Given the description of an element on the screen output the (x, y) to click on. 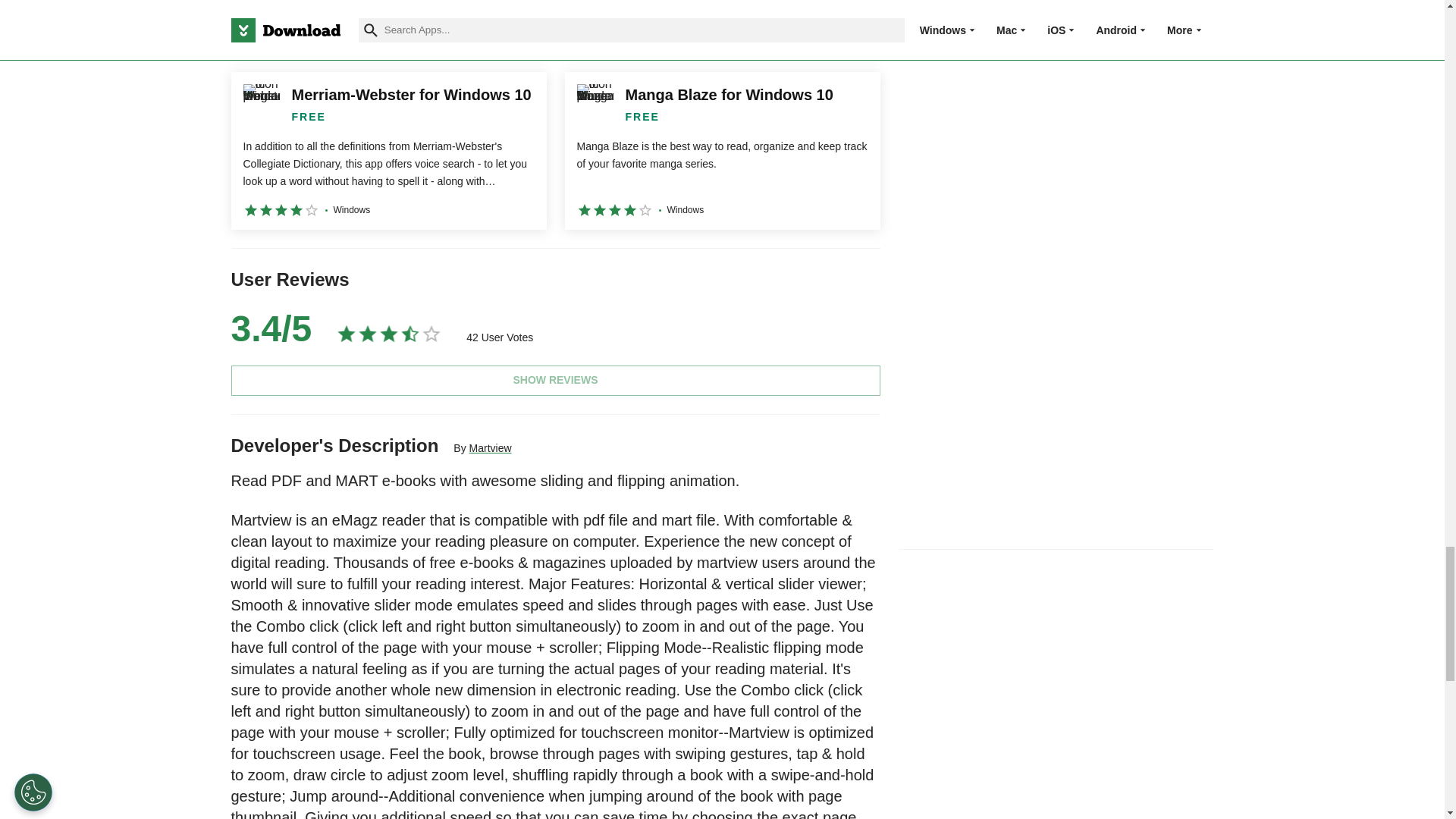
Asphalt 8 Airborne Advanced cheats and mods (388, 27)
Merriam-Webster for Windows 10 (388, 151)
Amharic Bible for Windows 10 (721, 27)
Manga Blaze for Windows 10 (721, 151)
Score of 3.4 stars over 5 (270, 329)
